Given the description of an element on the screen output the (x, y) to click on. 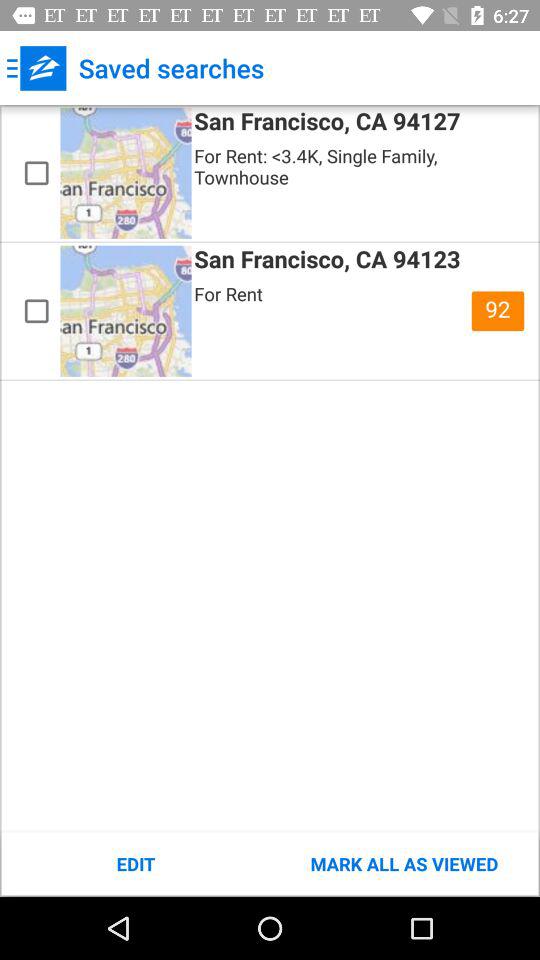
select this saved property (36, 173)
